Given the description of an element on the screen output the (x, y) to click on. 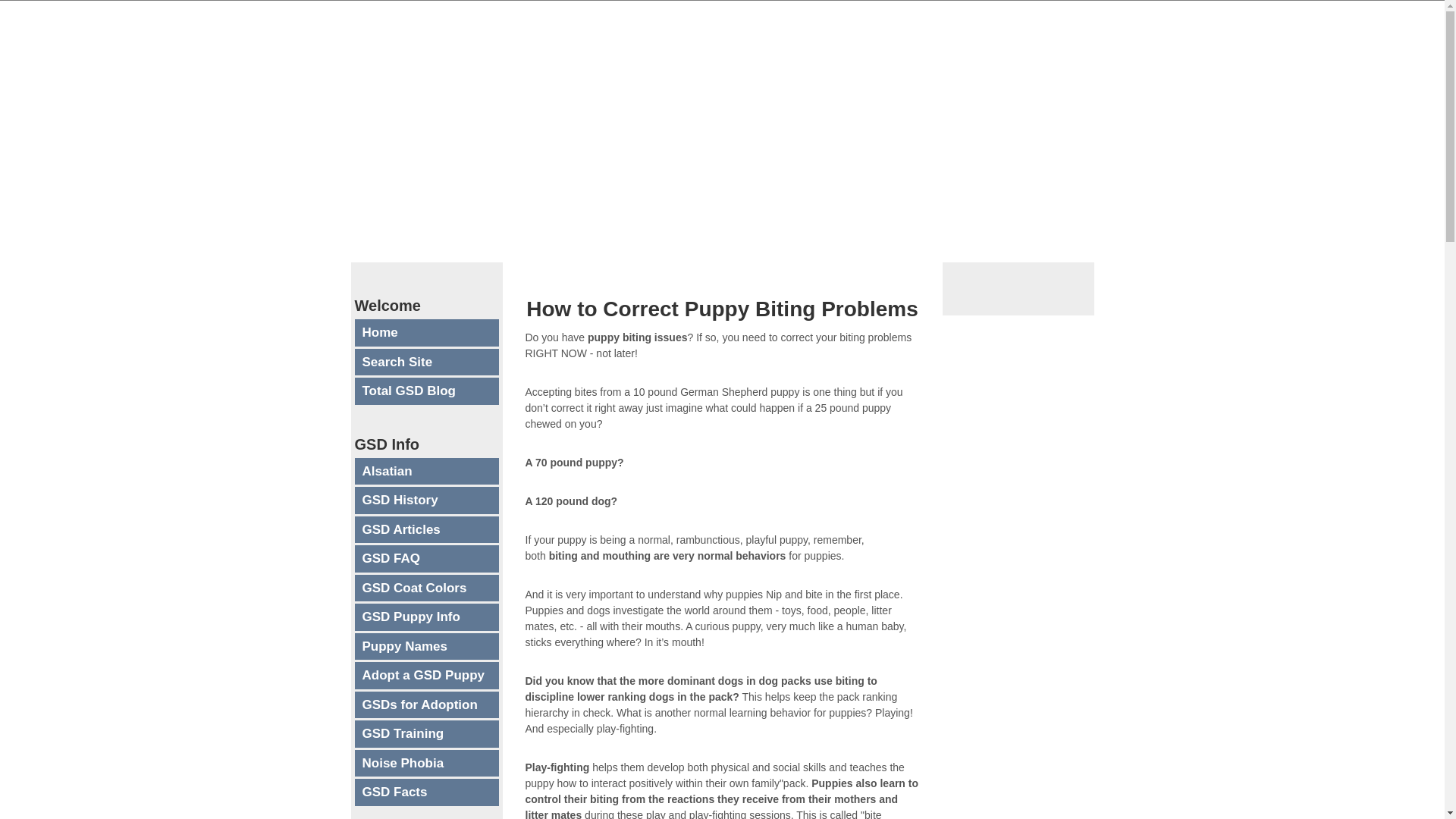
Noise Phobia (427, 762)
GSD Puppy Info (427, 616)
GSD Facts (427, 791)
GSD History (427, 500)
GSD FAQ (427, 558)
Total GSD Blog (427, 390)
GSD Training (427, 733)
Search Site (427, 361)
Home (427, 332)
GSD Articles (427, 528)
